Given the description of an element on the screen output the (x, y) to click on. 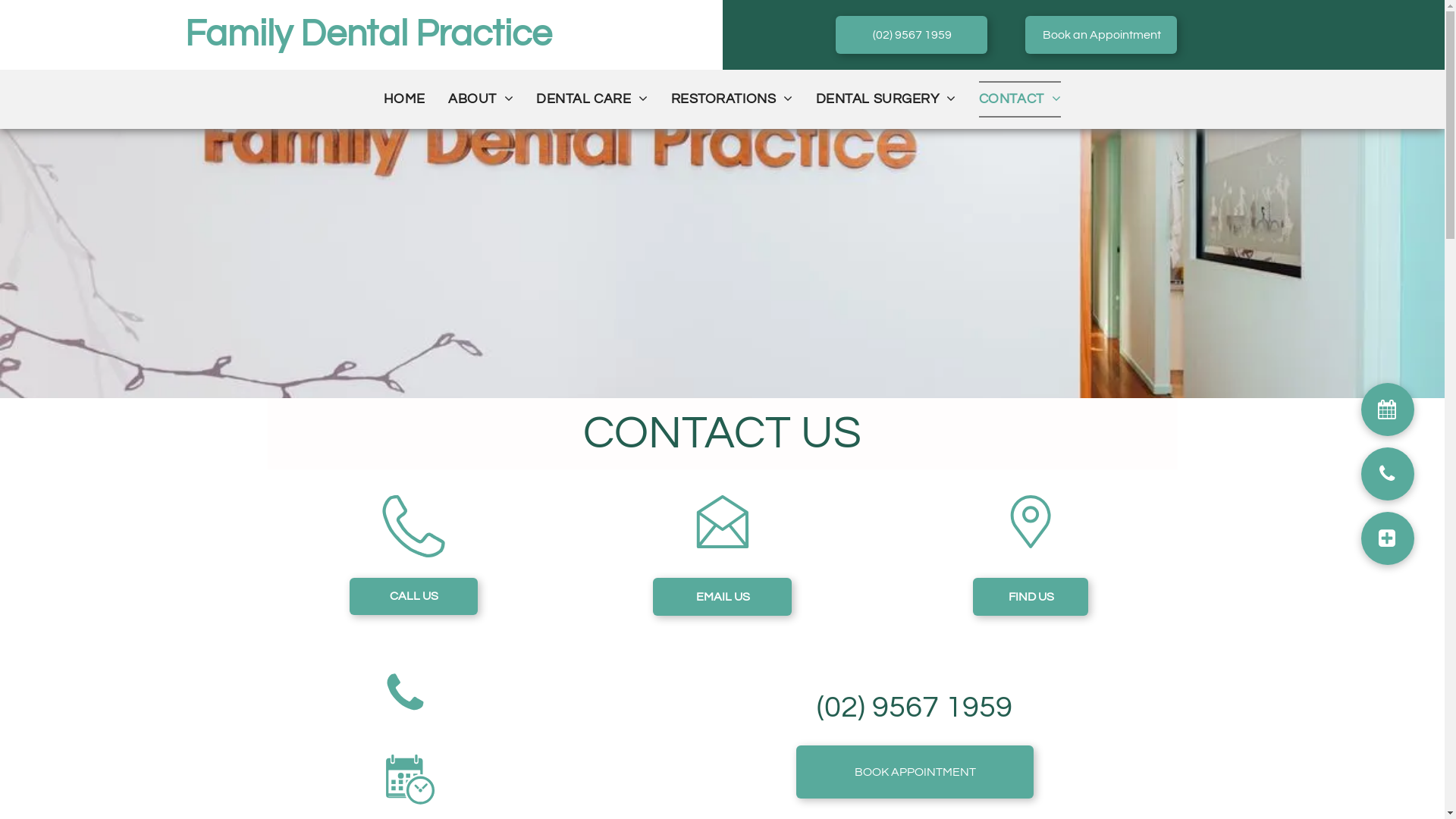
(02) 9567 1959 Element type: text (911, 34)
ABOUT Element type: text (480, 98)
Book an Appointment Element type: text (1100, 34)
phone_20 Element type: text (413, 553)
HOME Element type: text (404, 98)
RESTORATIONS Element type: text (731, 98)
EMAIL US Element type: text (721, 596)
Family Dental Practice Element type: text (368, 34)
CONTACT Element type: text (1019, 98)
BOOK APPOINTMENT Element type: text (914, 771)
CALL US Element type: text (413, 596)
DENTAL CARE Element type: text (591, 98)
(02) 9567 1959 Element type: text (914, 706)
DENTAL SURGERY Element type: text (885, 98)
FIND US Element type: text (1030, 596)
